Given the description of an element on the screen output the (x, y) to click on. 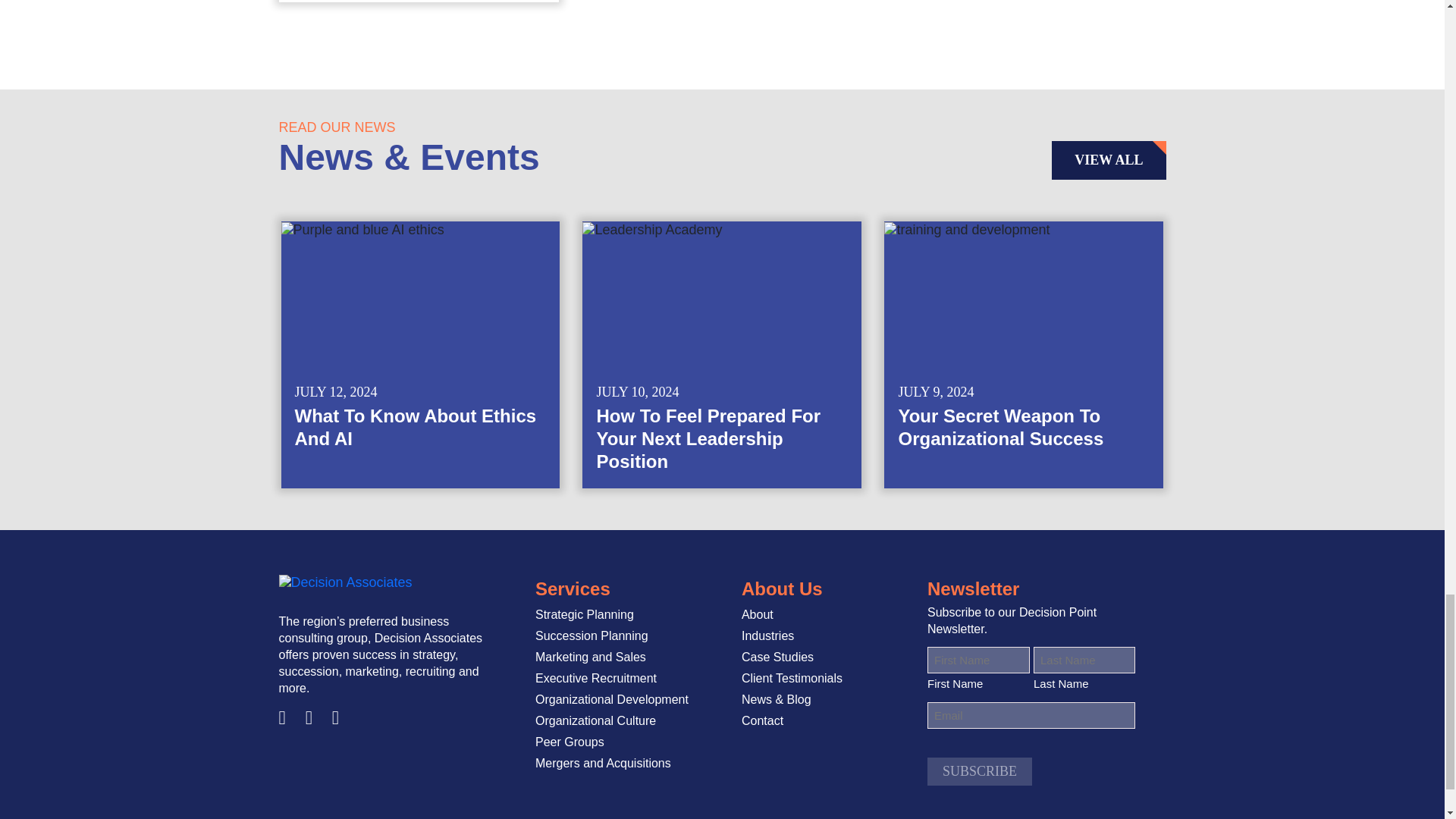
VIEW ALL (1108, 159)
What To Know About Ethics and AI (420, 354)
Your Secret Weapon to Organizational Success (1023, 354)
SUBSCRIBE (979, 771)
How To Feel Prepared For Your Next Leadership Position (721, 354)
